Given the description of an element on the screen output the (x, y) to click on. 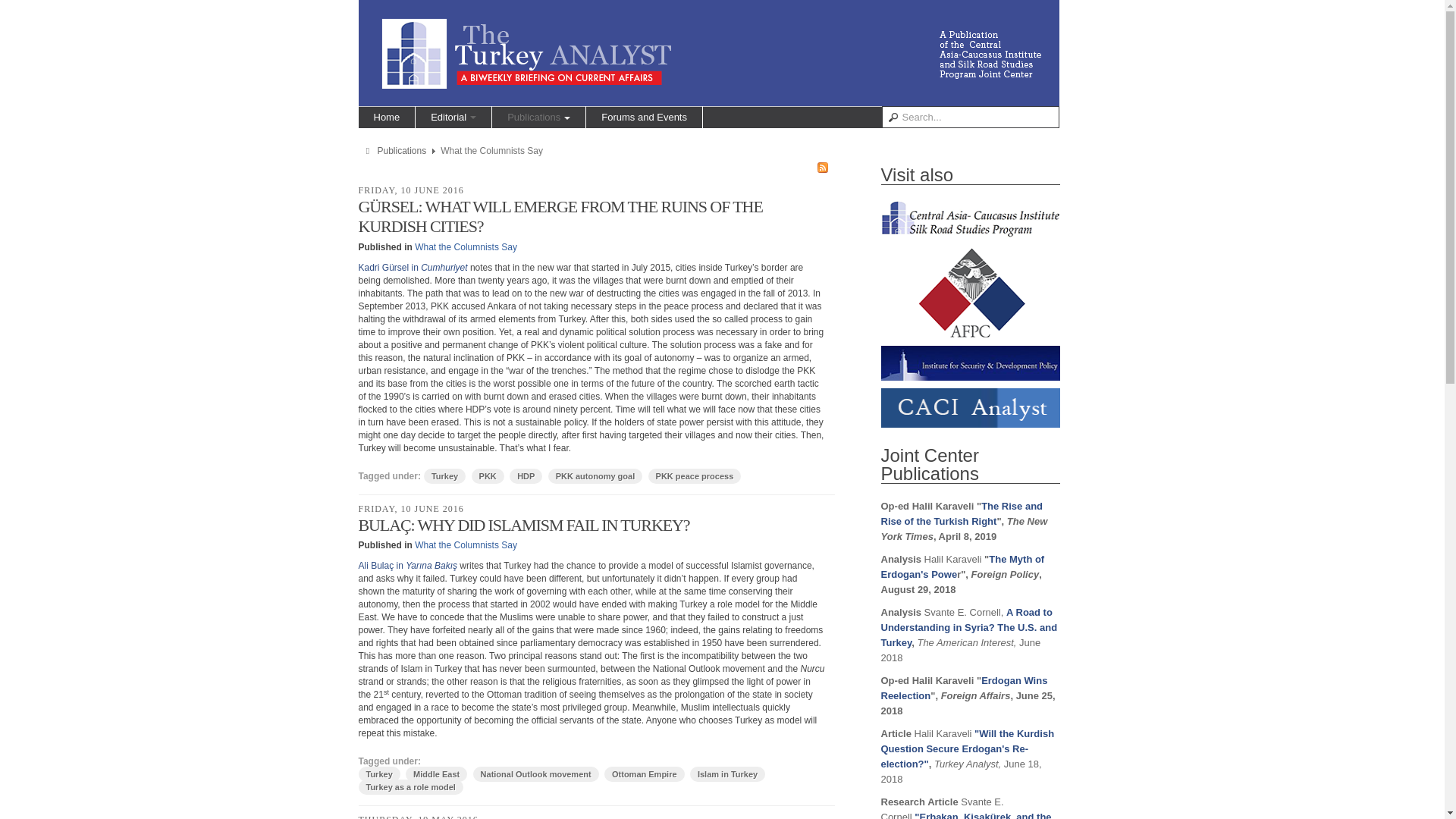
Forums and Events (643, 117)
What the Columnists Say (465, 246)
PKK autonomy goal (595, 476)
Turkey as a role model (410, 786)
Subscribe to this RSS feed (821, 167)
Islam in Turkey (727, 774)
Turkey (378, 774)
Ottoman Empire (644, 774)
National Outlook movement (535, 774)
Middle East (436, 774)
